Given the description of an element on the screen output the (x, y) to click on. 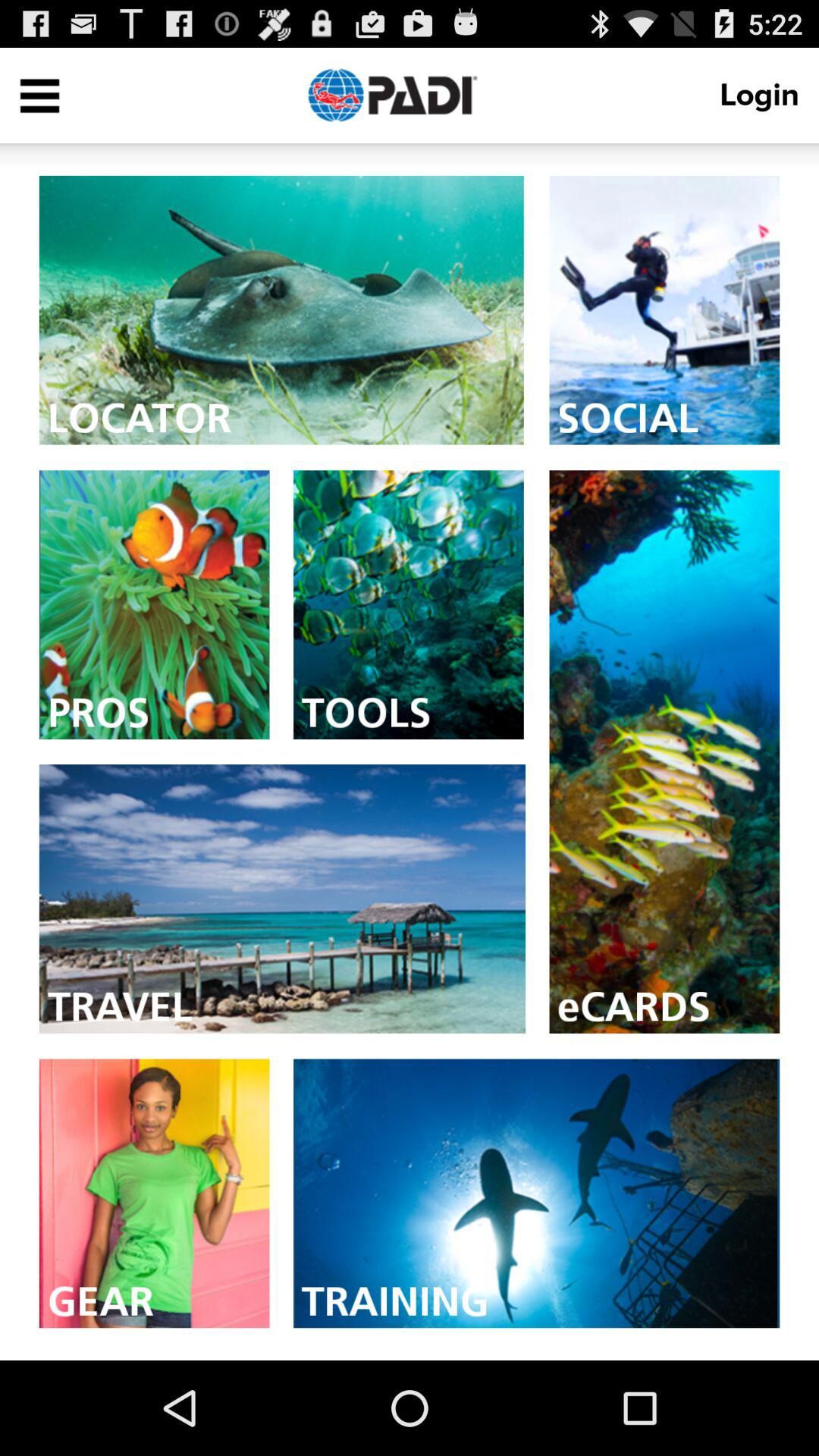
link to ecards option (664, 751)
